Given the description of an element on the screen output the (x, y) to click on. 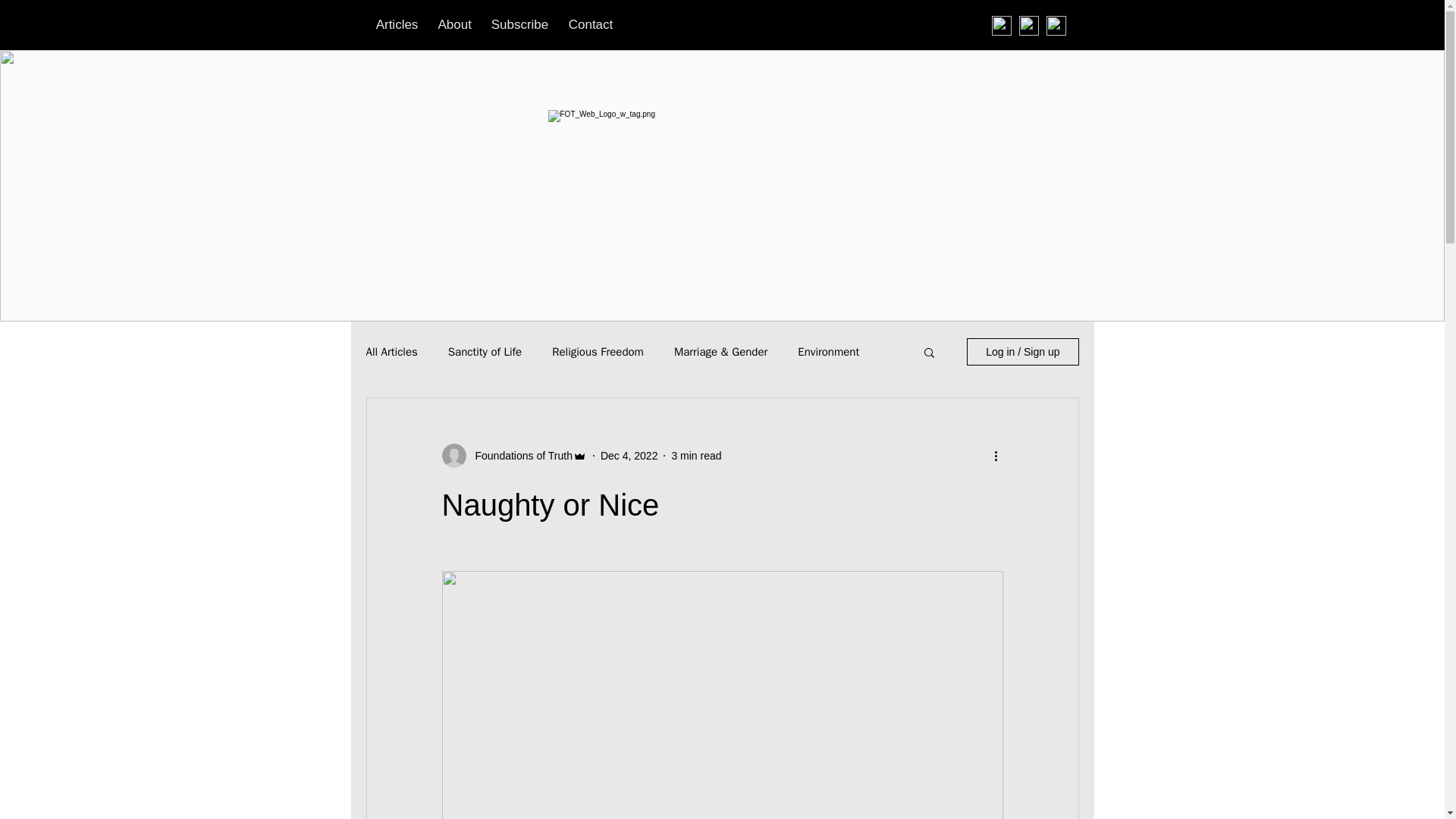
Religious Freedom (597, 350)
Articles (396, 23)
Environment (828, 350)
All Articles (390, 350)
Dec 4, 2022 (628, 454)
3 min read (695, 454)
Contact (590, 23)
About (454, 23)
Subscribe (518, 23)
Foundations of Truth (518, 455)
